Given the description of an element on the screen output the (x, y) to click on. 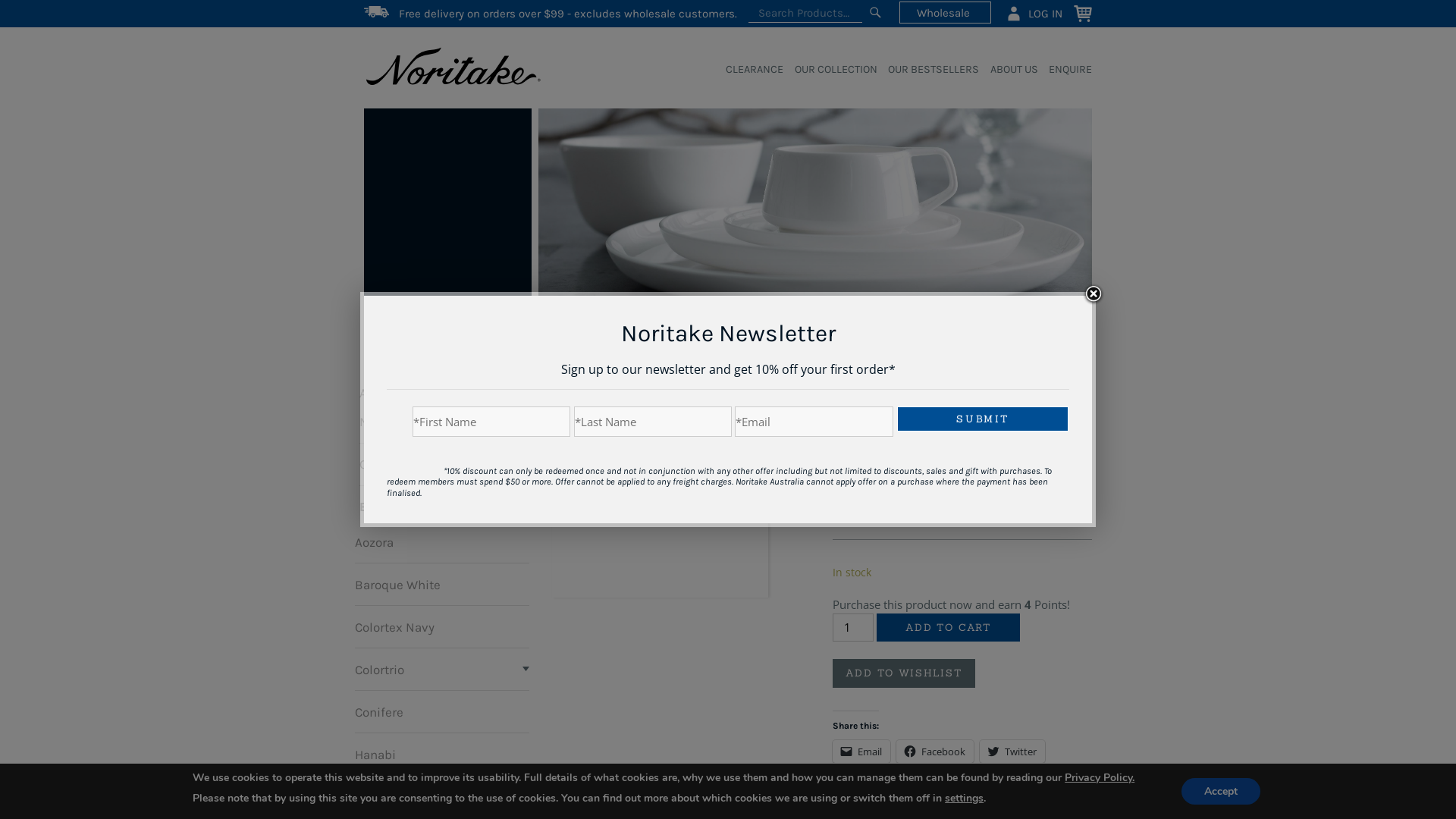
Accept Element type: text (1220, 791)
CLEARANCE Element type: text (749, 69)
OUR COLLECTION Element type: text (624, 341)
Twitter Element type: text (1011, 751)
Email Element type: text (861, 751)
Hanabi Element type: text (374, 753)
Wholesale Element type: text (945, 12)
Privacy Policy. Element type: text (1099, 777)
ADD TO CART Element type: text (947, 627)
ENQUIRE Element type: text (1065, 69)
COLORWAVE Element type: text (809, 341)
Le Restaurant Element type: text (394, 795)
HOME Element type: text (565, 341)
Close this box Element type: hover (1093, 293)
Facebook Element type: text (934, 751)
Search Element type: hover (874, 12)
ABOUT US Element type: text (1008, 69)
Pinterest Element type: text (869, 782)
Aozora Element type: text (373, 541)
EVERYDAY DINNERWARE Element type: text (722, 341)
OUR BESTSELLERS Element type: text (928, 69)
Baroque White Element type: text (397, 583)
OUR COLLECTION Element type: text (415, 357)
LOG IN Element type: text (1033, 12)
Classic Dinnerware Element type: text (414, 463)
Colortex Navy Element type: text (394, 625)
Everyday Dinnerware Element type: text (424, 506)
settings Element type: text (963, 797)
COLORWAVE GRAPHITE Element type: text (894, 341)
Submit Element type: text (982, 418)
Colorwave Graphite Pasta Bowl 1 Element type: hover (660, 489)
Adam Liaw Everyday By Noritake Element type: text (427, 407)
Conifere Element type: text (378, 710)
Colortrio Element type: text (379, 668)
ADD TO WISHLIST Element type: text (903, 672)
OUR COLLECTION Element type: text (829, 69)
